Given the description of an element on the screen output the (x, y) to click on. 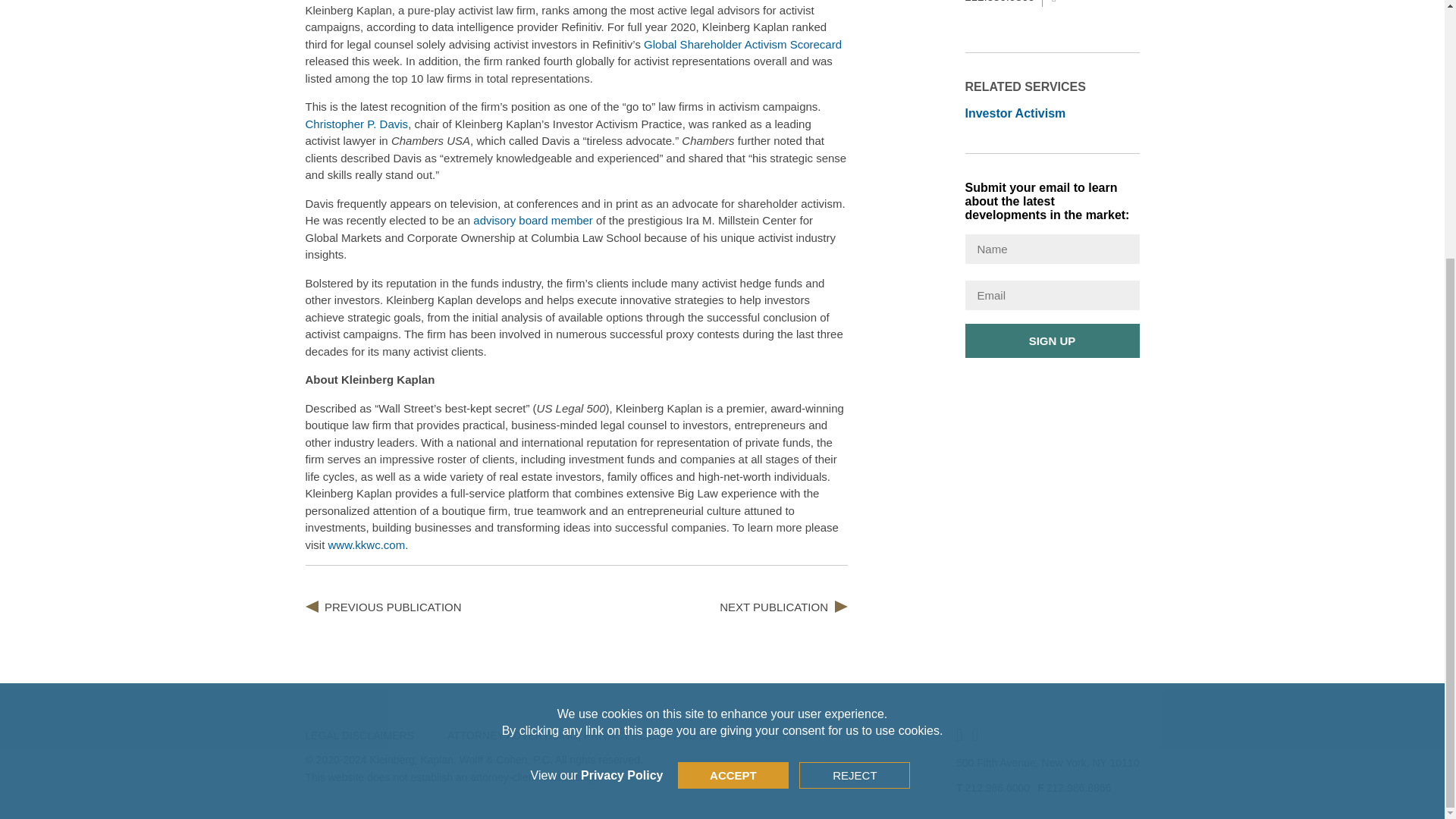
Sign Up (1050, 340)
